Given the description of an element on the screen output the (x, y) to click on. 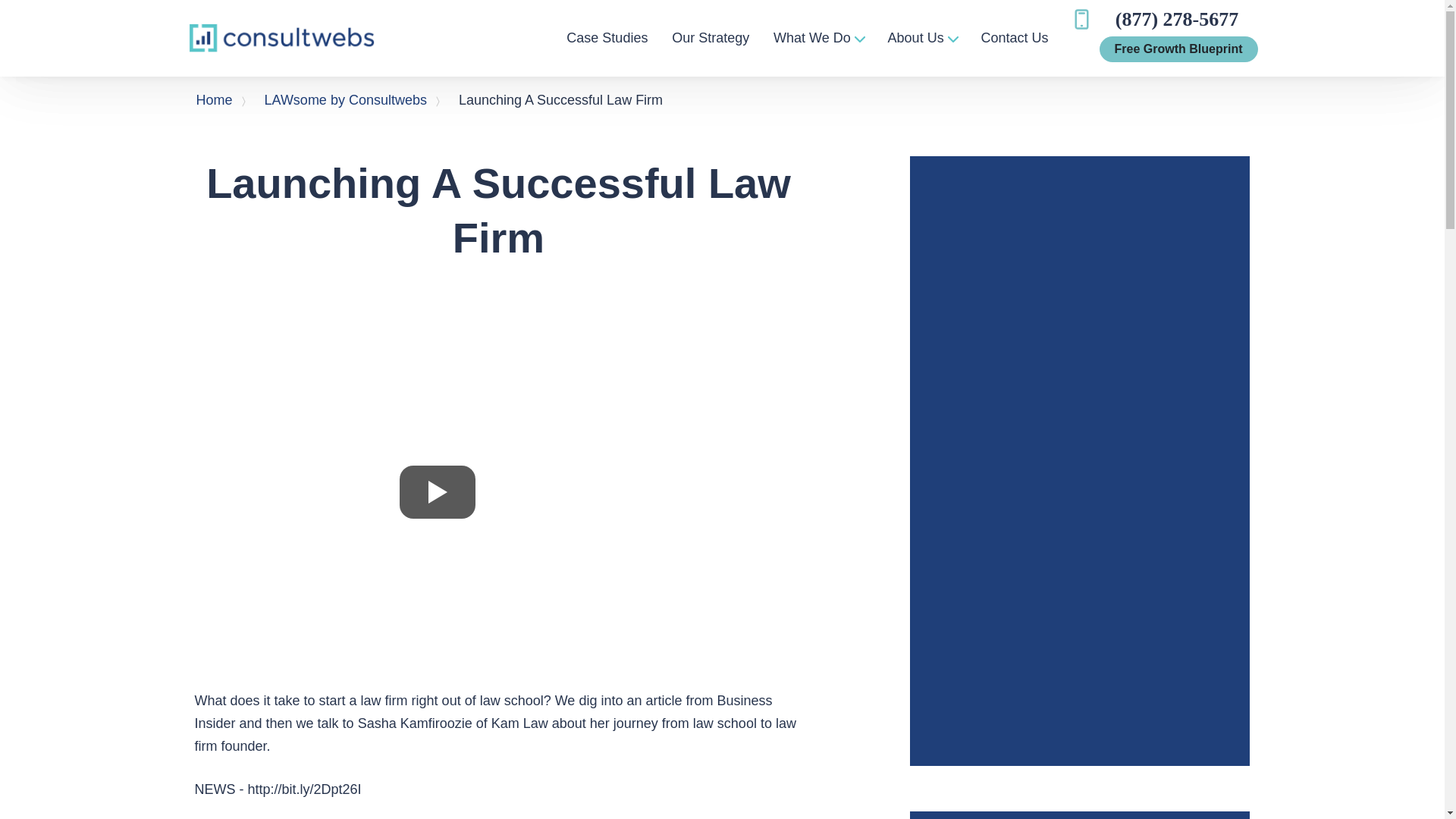
What We Do (818, 38)
Our Strategy (710, 38)
Case studies (606, 38)
